Given the description of an element on the screen output the (x, y) to click on. 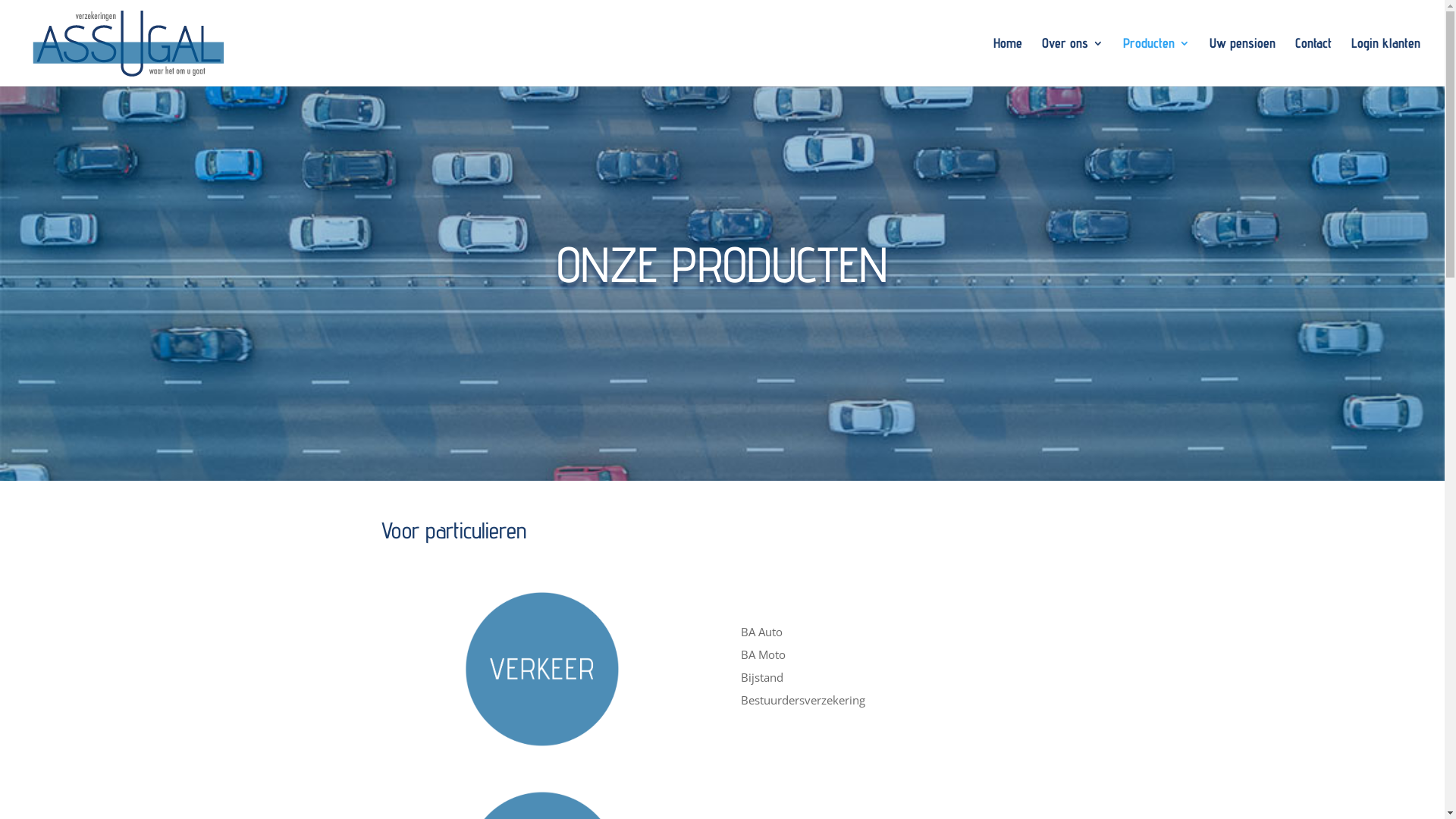
Producten Element type: text (1156, 61)
Home Element type: text (1007, 61)
Login klanten Element type: text (1385, 61)
Uw pensioen Element type: text (1242, 61)
Contact Element type: text (1313, 61)
Over ons Element type: text (1072, 61)
